Given the description of an element on the screen output the (x, y) to click on. 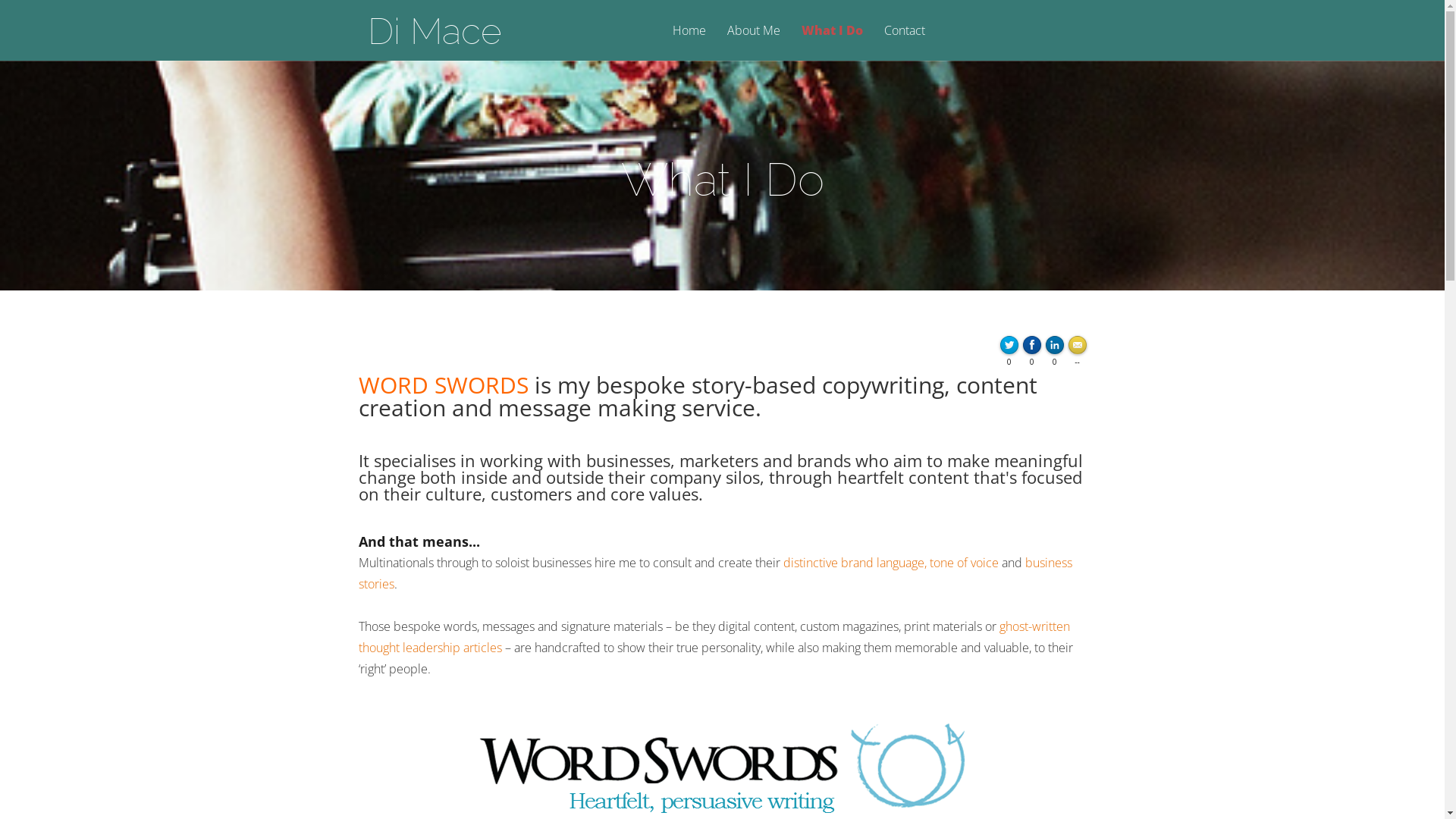
ghost-written thought leadership articles Element type: text (713, 636)
What I Do Element type: text (831, 42)
About Me Element type: text (752, 42)
Email to a friend Element type: text (1078, 349)
Di Mace Element type: text (433, 30)
Contact Element type: text (904, 42)
WORD SWORDS Element type: text (442, 384)
Home Element type: text (688, 42)
distinctive brand language, tone of voice Element type: text (889, 562)
business stories Element type: text (714, 573)
